Given the description of an element on the screen output the (x, y) to click on. 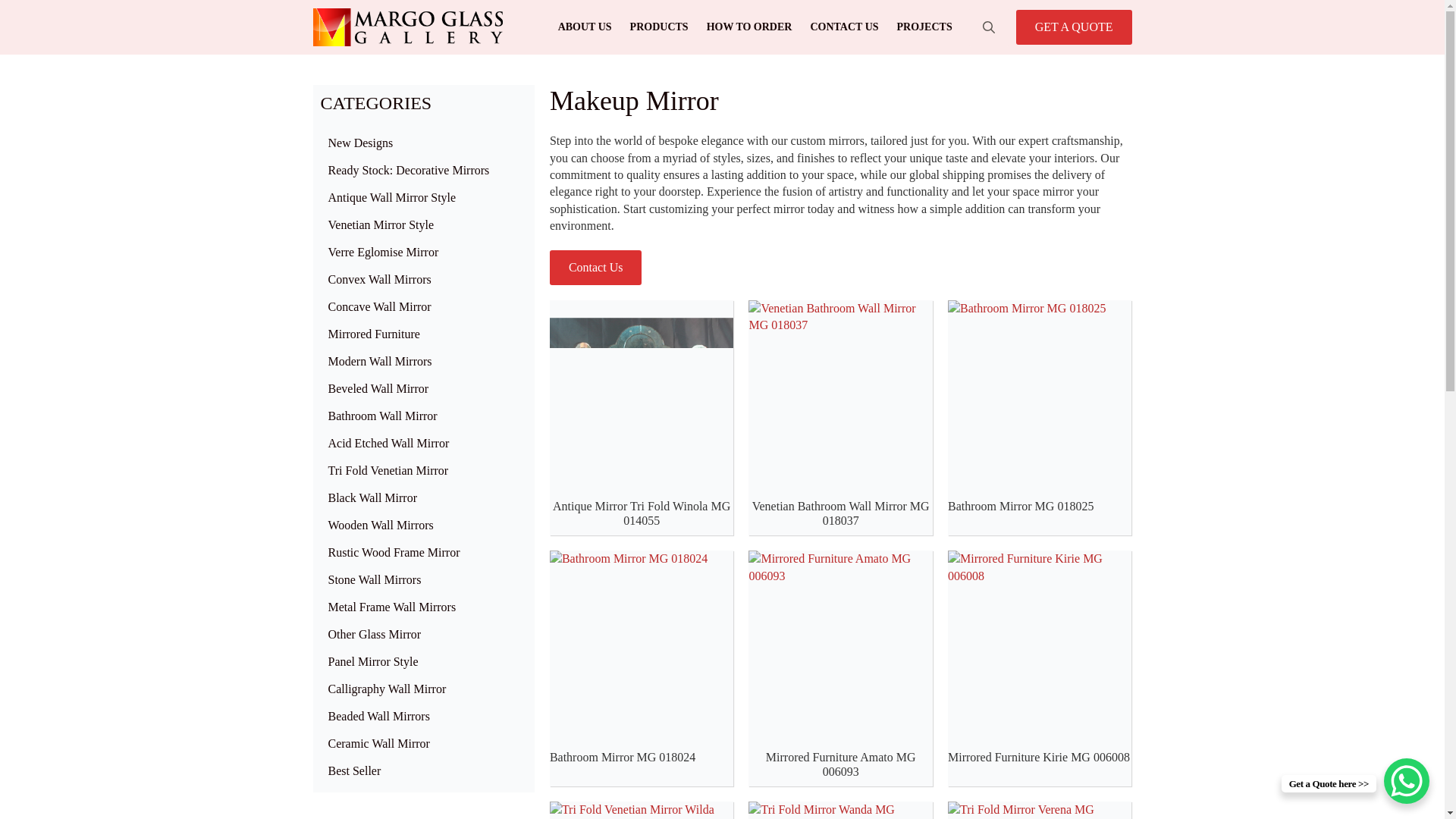
Acid Etched Wall Mirror (422, 443)
Stone Wall Mirrors (422, 579)
Venetian Mirror Style (422, 225)
Antique Mirror Tri Fold Winola MG 014055 (641, 512)
PROJECTS (924, 27)
ABOUT US (584, 27)
Convex Wall Mirrors (422, 279)
Mirrored Furniture (422, 334)
Venetian Bathroom Wall Mirror MG 018037 (840, 512)
New Designs (422, 143)
GET A QUOTE (1074, 27)
Metal Frame Wall Mirrors (422, 606)
Wooden Wall Mirrors (422, 524)
Other Glass Mirror (422, 634)
Verre Eglomise Mirror (422, 252)
